Given the description of an element on the screen output the (x, y) to click on. 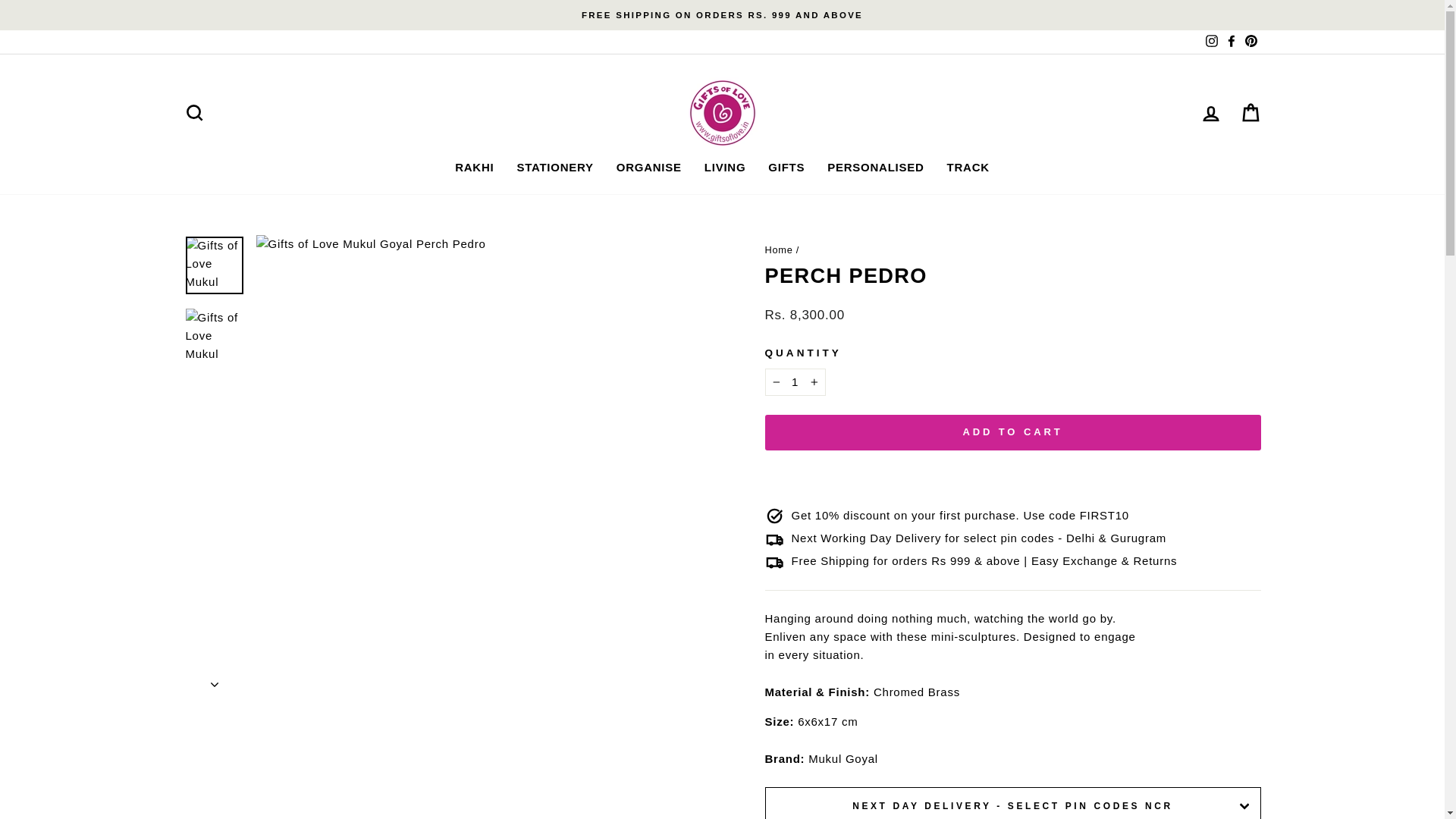
1 (794, 381)
Back to the frontpage (778, 249)
